Given the description of an element on the screen output the (x, y) to click on. 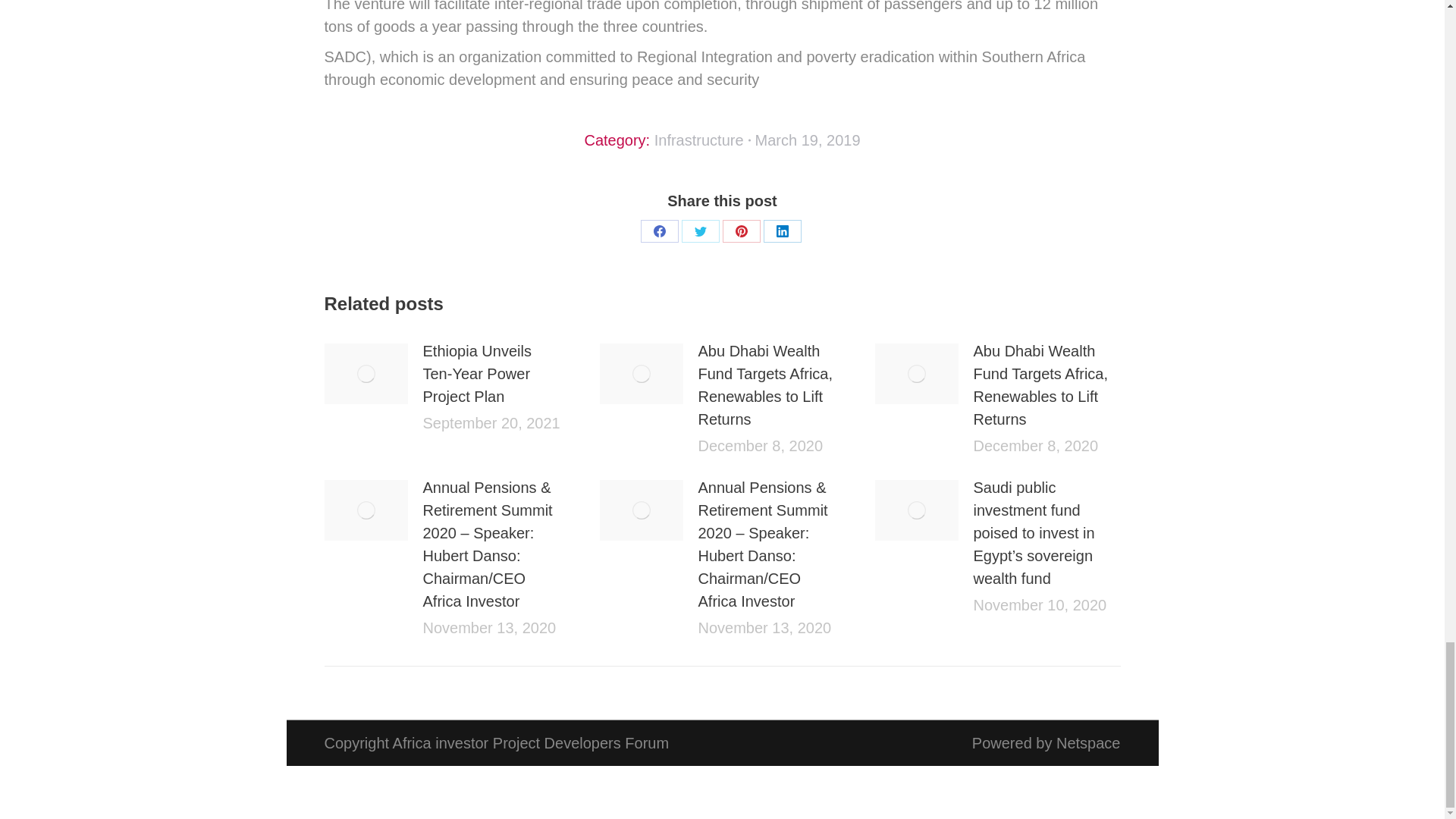
Facebook (659, 231)
Twitter (700, 231)
8:23 am (807, 139)
